Given the description of an element on the screen output the (x, y) to click on. 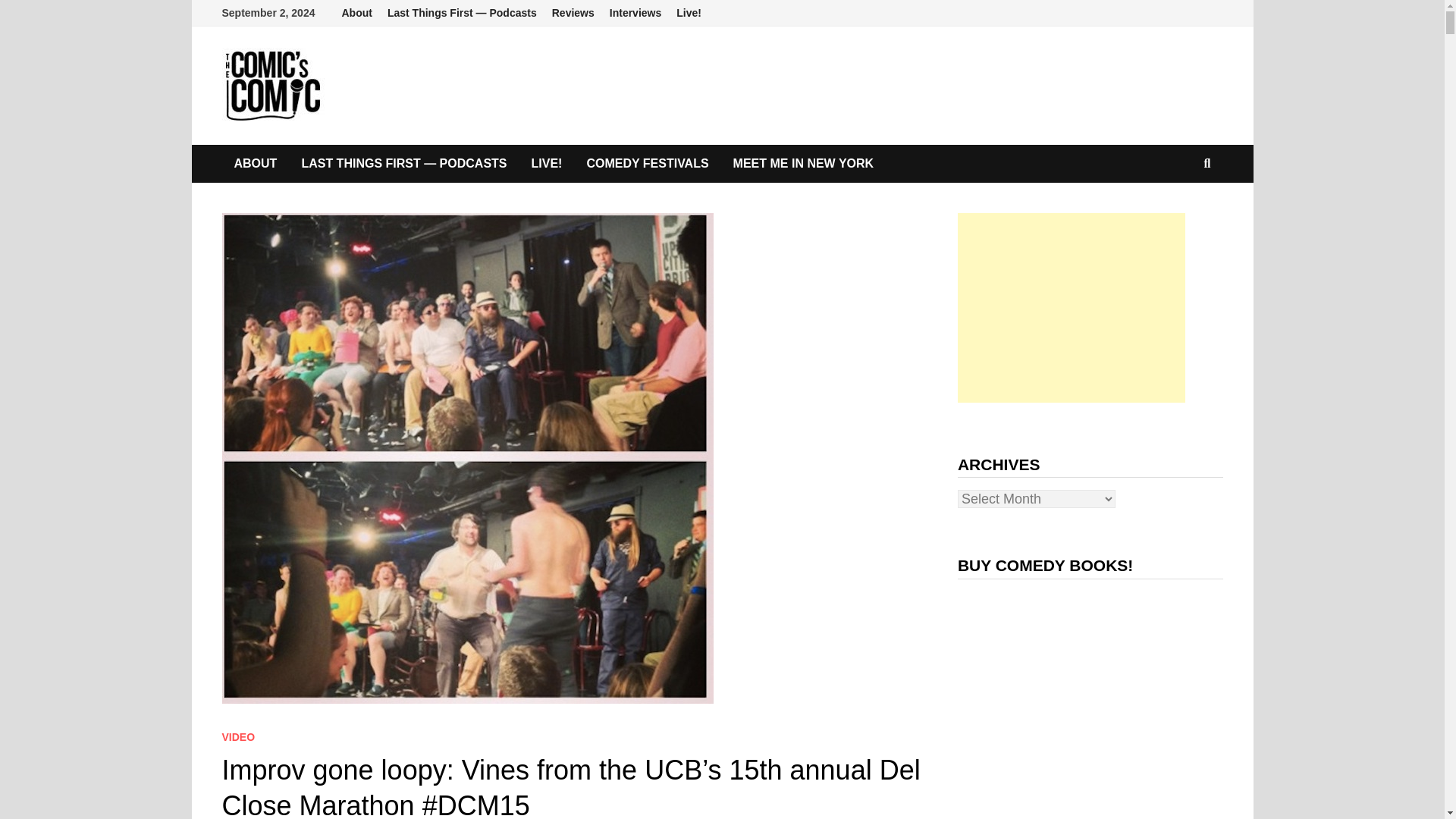
VIDEO (237, 736)
Reviews (573, 13)
Interviews (635, 13)
About (355, 13)
LIVE! (547, 163)
MEET ME IN NEW YORK (803, 163)
Advertisement (1071, 307)
ABOUT (254, 163)
COMEDY FESTIVALS (646, 163)
Live! (688, 13)
